Given the description of an element on the screen output the (x, y) to click on. 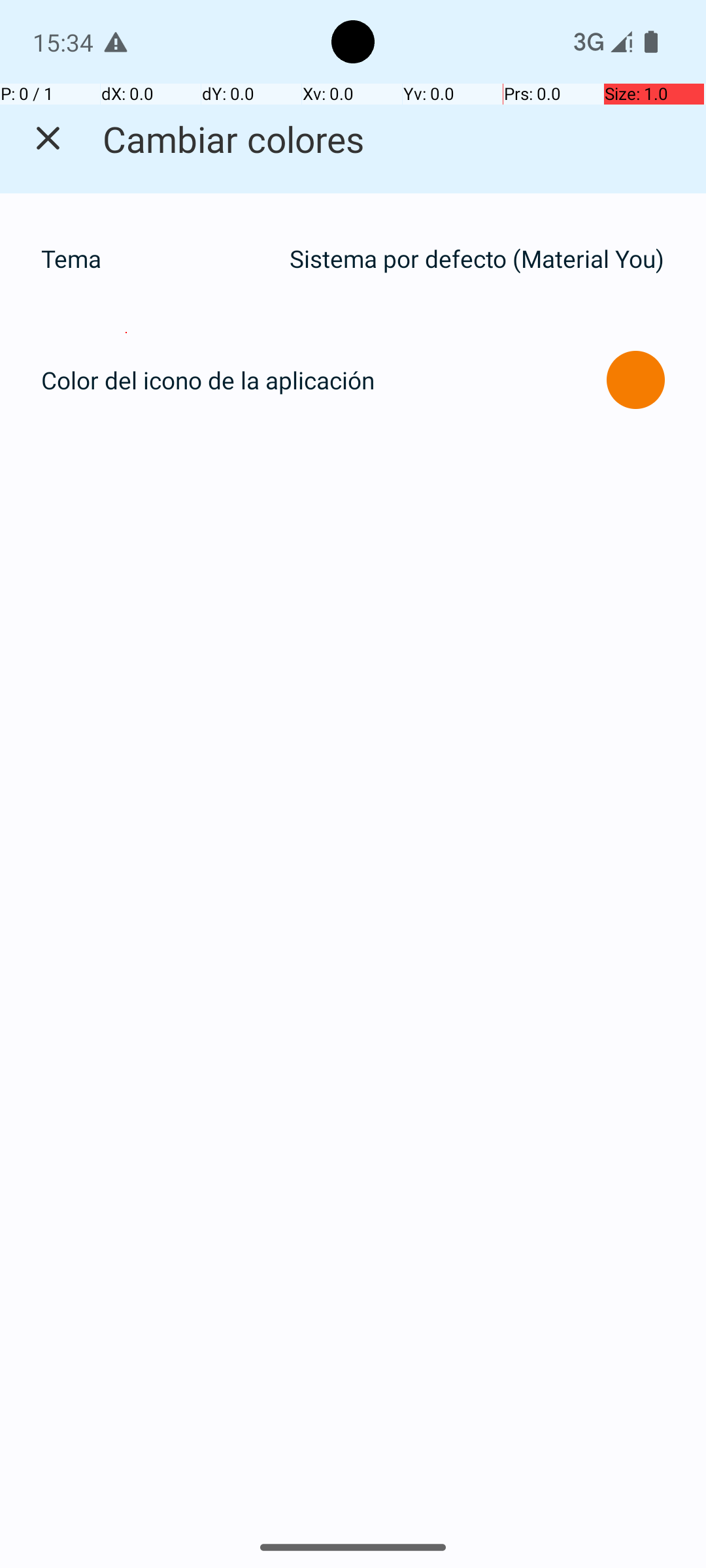
Cambiar colores Element type: android.widget.TextView (233, 138)
Tema Element type: android.widget.TextView (158, 258)
Sistema por defecto (Material You) Element type: android.widget.TextView (476, 258)
Color del icono de la aplicación Element type: android.widget.TextView (207, 379)
